Given the description of an element on the screen output the (x, y) to click on. 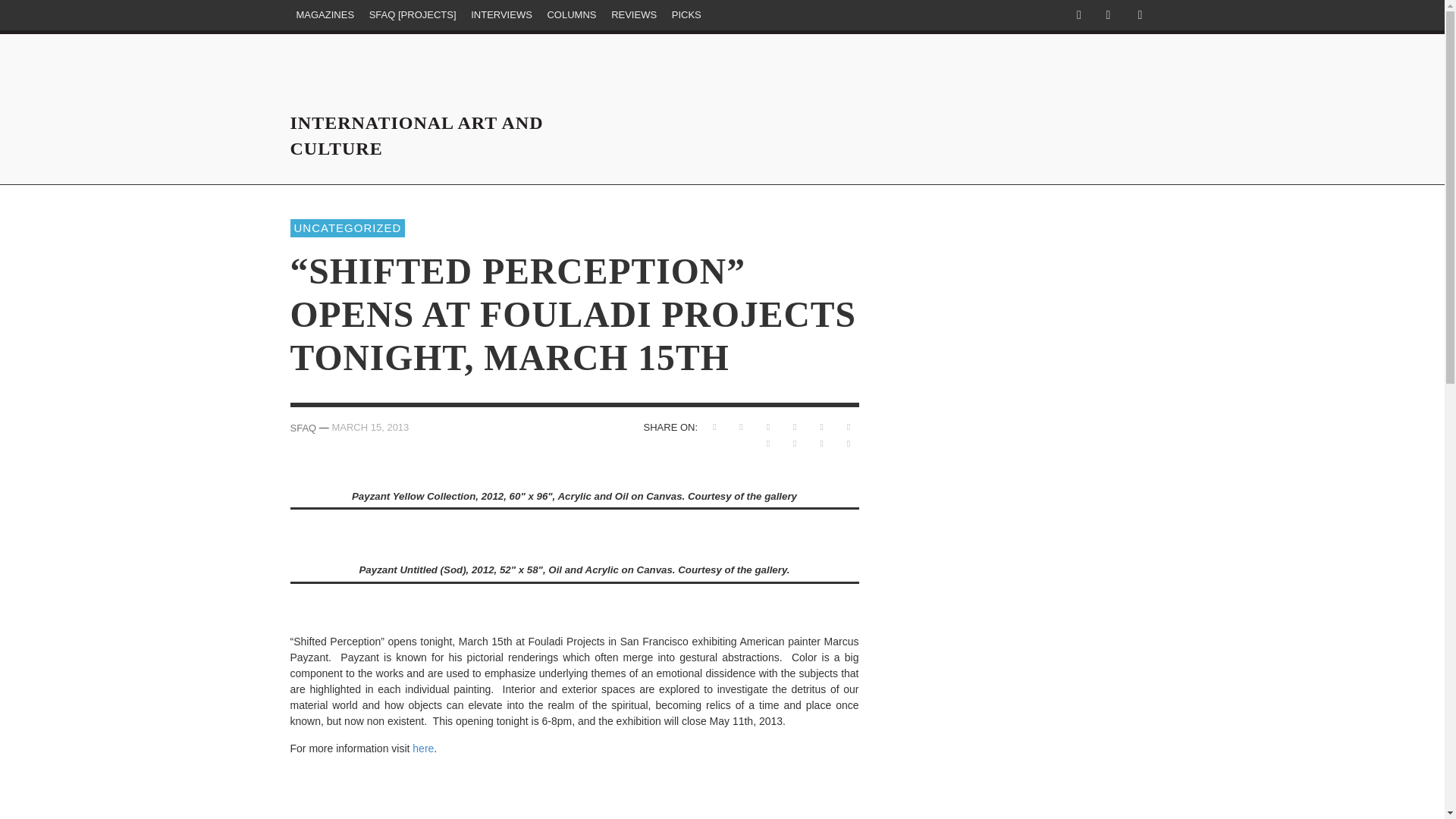
INTERVIEWS (501, 15)
REVIEWS (633, 15)
COLUMNS (571, 15)
Twitter (1107, 15)
MAGAZINES (324, 15)
Facebook (1078, 15)
